Given the description of an element on the screen output the (x, y) to click on. 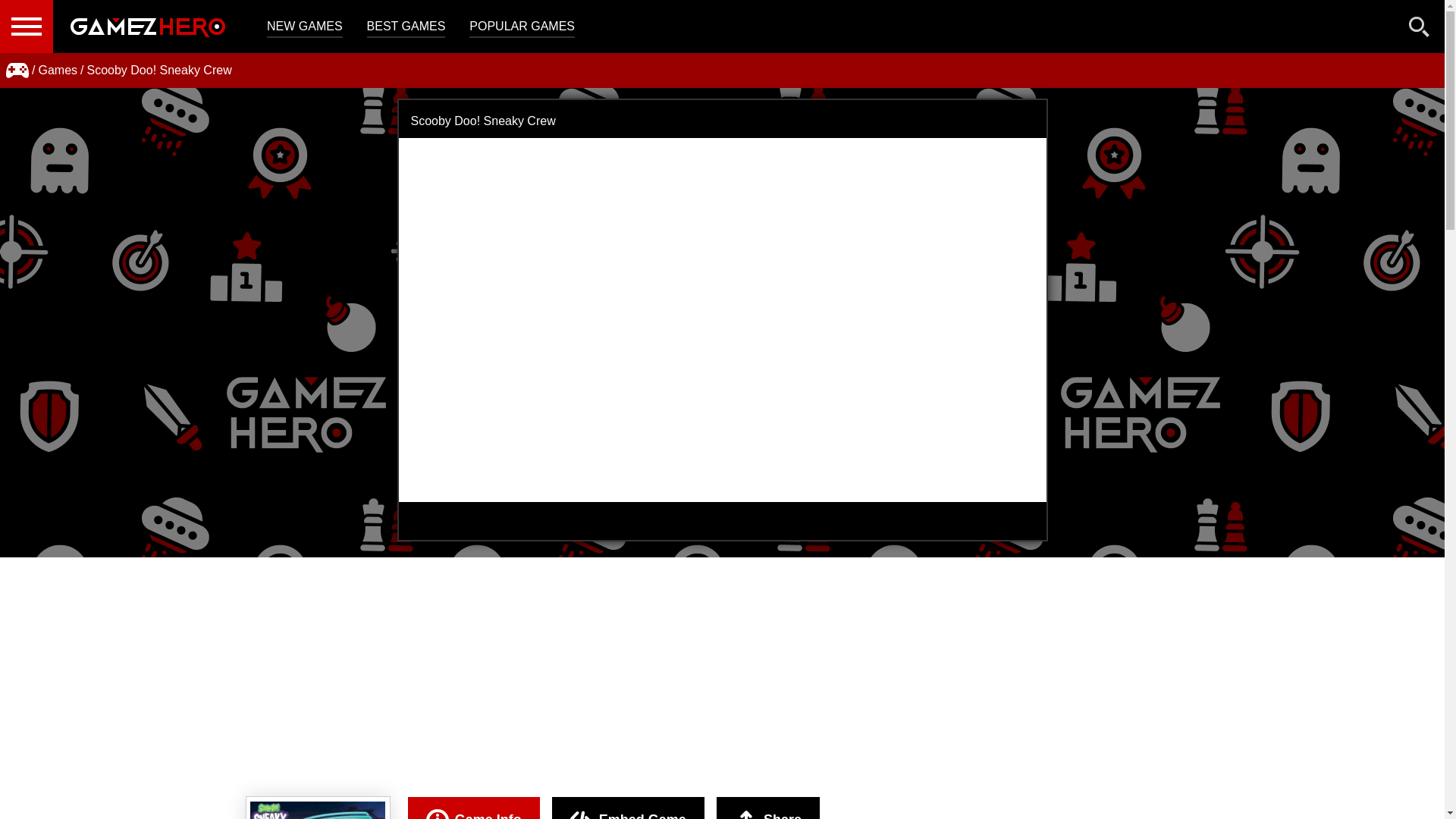
Popular Games (521, 27)
Search Game (1419, 30)
Gamezhero.com - Free Online Games. Play Free Games Online. (147, 26)
POPULAR GAMES (521, 27)
New Games (304, 27)
NEW GAMES (304, 27)
Gamezhero.com - Free Online Games. Play Free Games Online. (147, 26)
Best Games (405, 27)
BEST GAMES (405, 27)
